Given the description of an element on the screen output the (x, y) to click on. 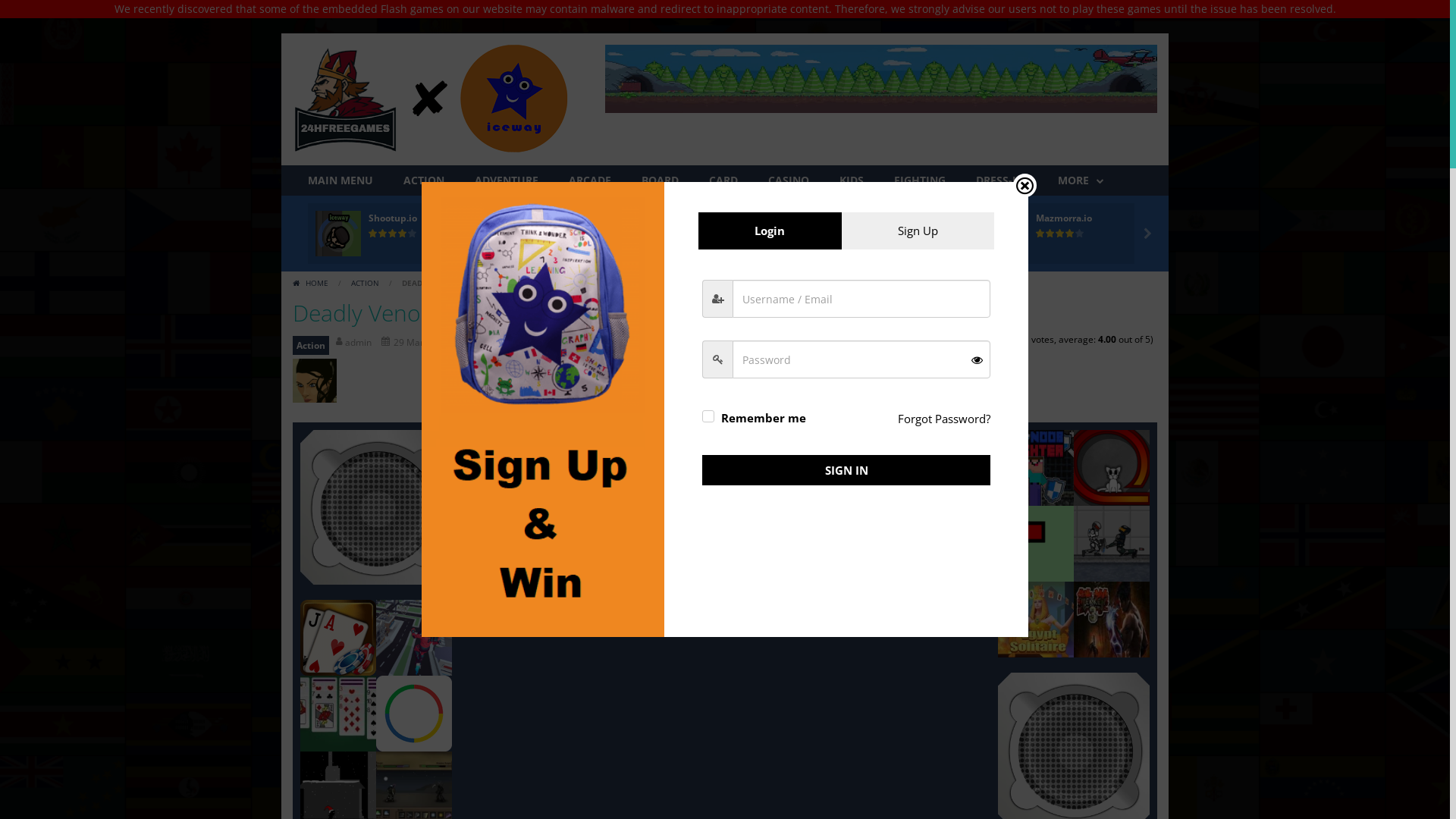
Mr Noob Fighter Element type: hover (1035, 466)
1 vote, average: 4.00 out of 5 Element type: hover (402, 233)
1 vote, average: 4.00 out of 5 Element type: hover (550, 233)
Forgot Password? Element type: text (943, 418)
Las Vegas Blackjack Element type: hover (338, 635)
1 vote, average: 4.00 out of 5 Element type: hover (579, 233)
SIGN IN Element type: text (846, 470)
1 vote, average: 4.00 out of 5 Element type: hover (716, 233)
1 vote, average: 4.00 out of 5 Element type: hover (903, 233)
CASINO Element type: text (788, 180)
1 vote, average: 4.00 out of 5 Element type: hover (1060, 233)
1 Star Element type: hover (974, 339)
Plazma Burst Element type: hover (1111, 542)
Hero 3: Flying Robot Element type: hover (413, 635)
ADVENTURE Element type: text (506, 180)
admin Element type: text (354, 341)
Footix.io Element type: text (554, 217)
5 Stars Element type: hover (1013, 339)
1 vote, average: 4.00 out of 5 Element type: hover (1080, 233)
MAIN MENU Element type: text (340, 180)
CARD Element type: text (723, 180)
1 vote, average: 4.00 out of 5 Element type: hover (383, 233)
Pucks.io Element type: text (720, 217)
KIDS Element type: text (851, 180)
3 Stars Element type: hover (993, 339)
Quantum Foam Element type: hover (1111, 466)
2 Stars Element type: hover (983, 339)
1 vote, average: 4.00 out of 5 Element type: hover (913, 233)
1 vote, average: 4.00 out of 5 Element type: hover (883, 233)
ARCADE Element type: text (589, 180)
Color Circle Element type: hover (413, 711)
HOME Element type: text (311, 282)
1 vote, average: 4.00 out of 5 Element type: hover (1070, 233)
1 vote, average: 4.00 out of 5 Element type: hover (707, 233)
ACTION Element type: text (423, 180)
1 vote, average: 4.00 out of 5 Element type: hover (1050, 233)
FIGHTING Element type: text (919, 180)
DRESS-UP Element type: text (1001, 180)
1 vote, average: 4.00 out of 5 Element type: hover (893, 233)
Mazmorra.io Element type: text (1063, 217)
The Worlds Hardest Game Element type: hover (1035, 542)
BOARD Element type: text (659, 180)
MORE Element type: text (1080, 180)
Tekken 3 Element type: hover (1111, 618)
1 vote, average: 4.00 out of 5 Element type: hover (559, 233)
1 vote, average: 4.00 out of 5 Element type: hover (393, 233)
4 Stars Element type: hover (1003, 339)
Action Element type: text (310, 344)
1 vote, average: 4.00 out of 5 Element type: hover (873, 233)
1 vote, average: 4.00 out of 5 Element type: hover (736, 233)
ACTION Element type: text (365, 282)
1 vote, average: 4.00 out of 5 Element type: hover (540, 233)
Bruh.io Element type: text (885, 217)
1 vote, average: 4.00 out of 5 Element type: hover (726, 233)
Shootup.io Element type: text (392, 217)
1 vote, average: 4.00 out of 5 Element type: hover (569, 233)
Egypt Solitaire Element type: hover (1035, 618)
1 vote, average: 4.00 out of 5 Element type: hover (746, 233)
24hfreegames.com Element type: hover (430, 98)
24hfreegames.com Element type: hover (430, 98)
Sinjid: SotW Element type: hover (413, 787)
Christmas Runner Element type: hover (338, 787)
1 vote, average: 4.00 out of 5 Element type: hover (373, 233)
1 vote, average: 4.00 out of 5 Element type: hover (1040, 233)
1 vote, average: 4.00 out of 5 Element type: hover (412, 233)
Card Solitaire Element type: hover (338, 711)
